Given the description of an element on the screen output the (x, y) to click on. 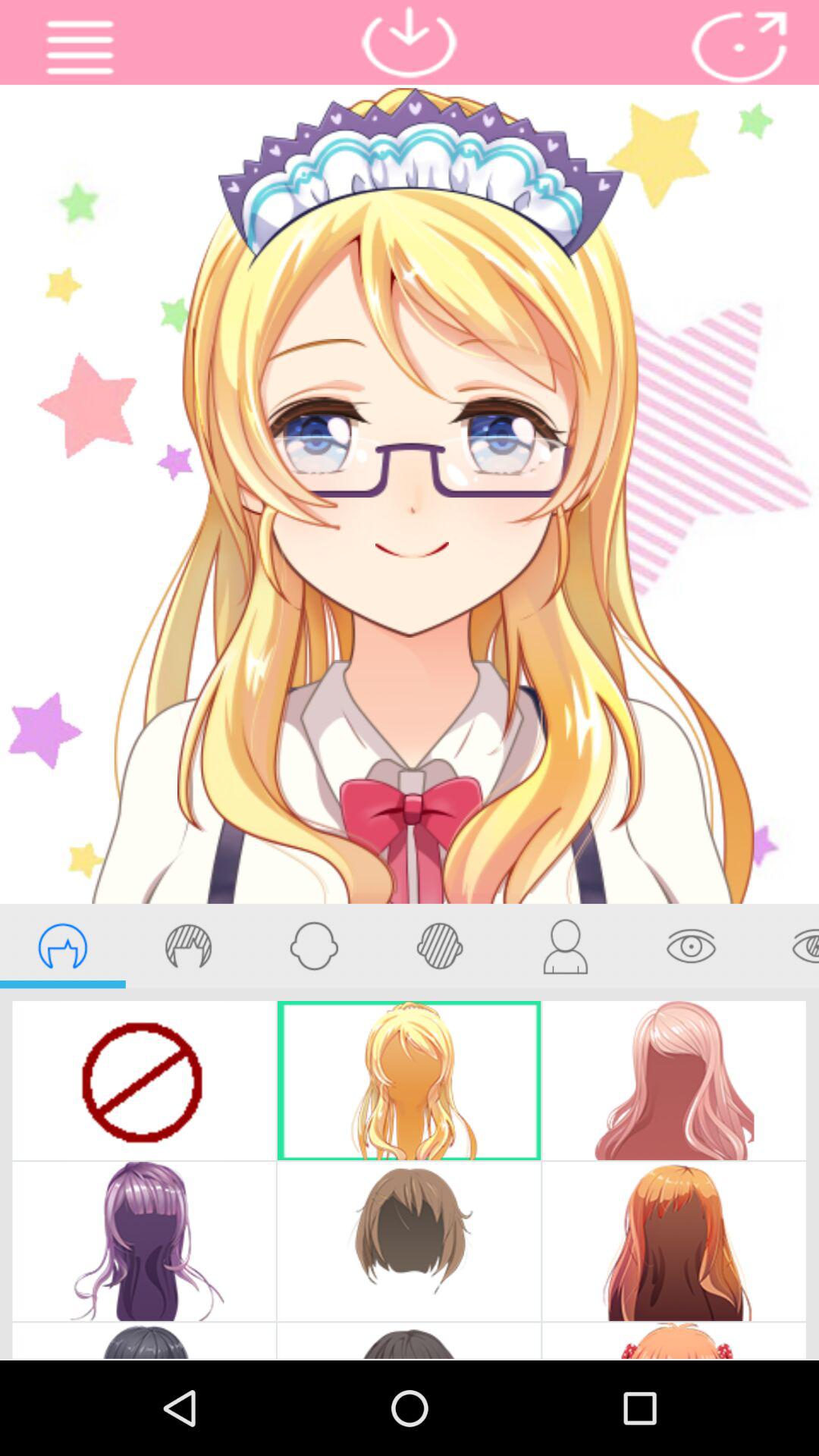
customize eyes (691, 945)
